Given the description of an element on the screen output the (x, y) to click on. 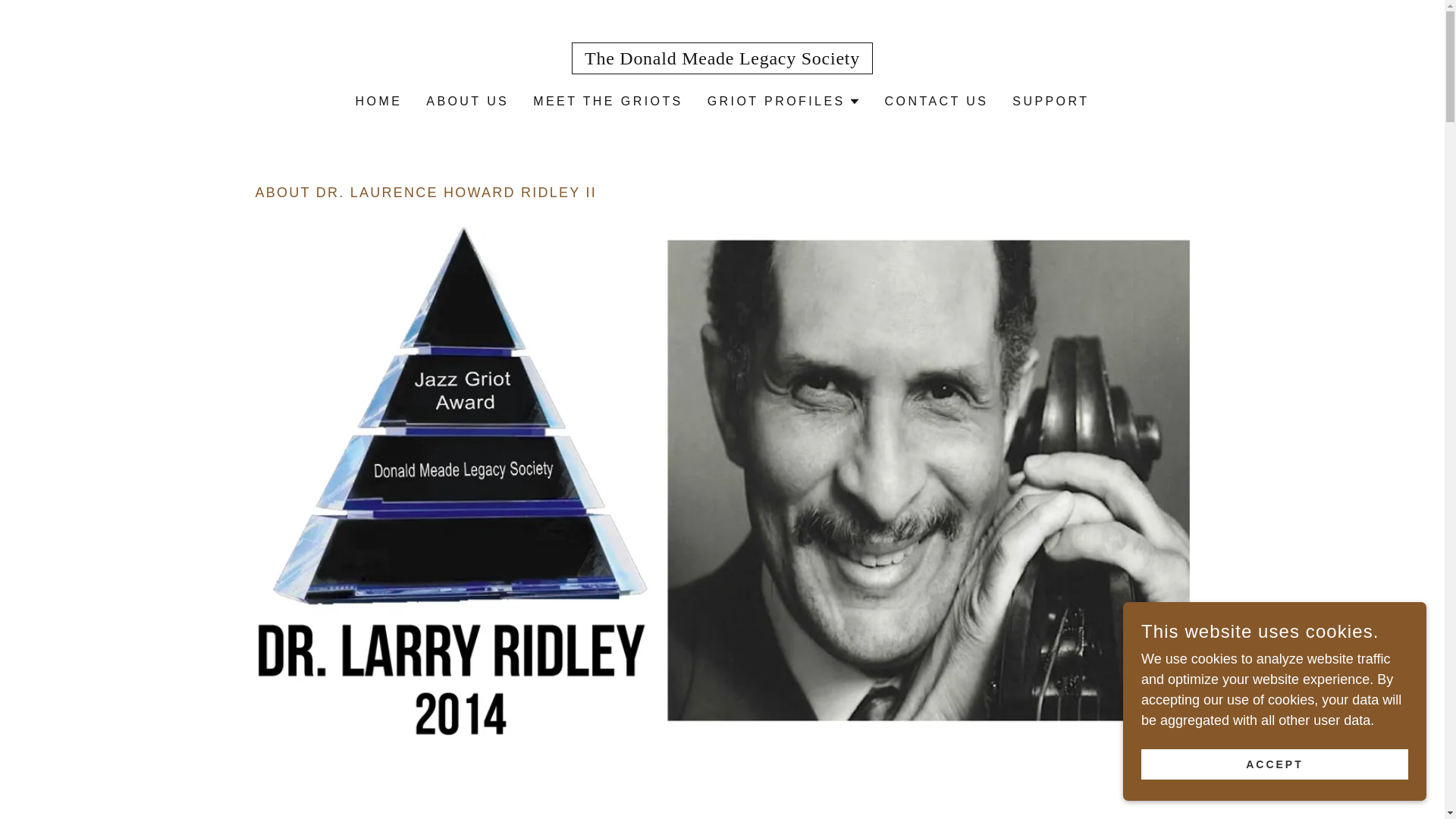
CONTACT US (936, 101)
The Donald Meade Legacy Society (722, 59)
MEET THE GRIOTS (607, 101)
HOME (378, 101)
The Donald Meade Legacy Society (722, 59)
SUPPORT (1050, 101)
GRIOT PROFILES (783, 101)
ABOUT US (467, 101)
